Given the description of an element on the screen output the (x, y) to click on. 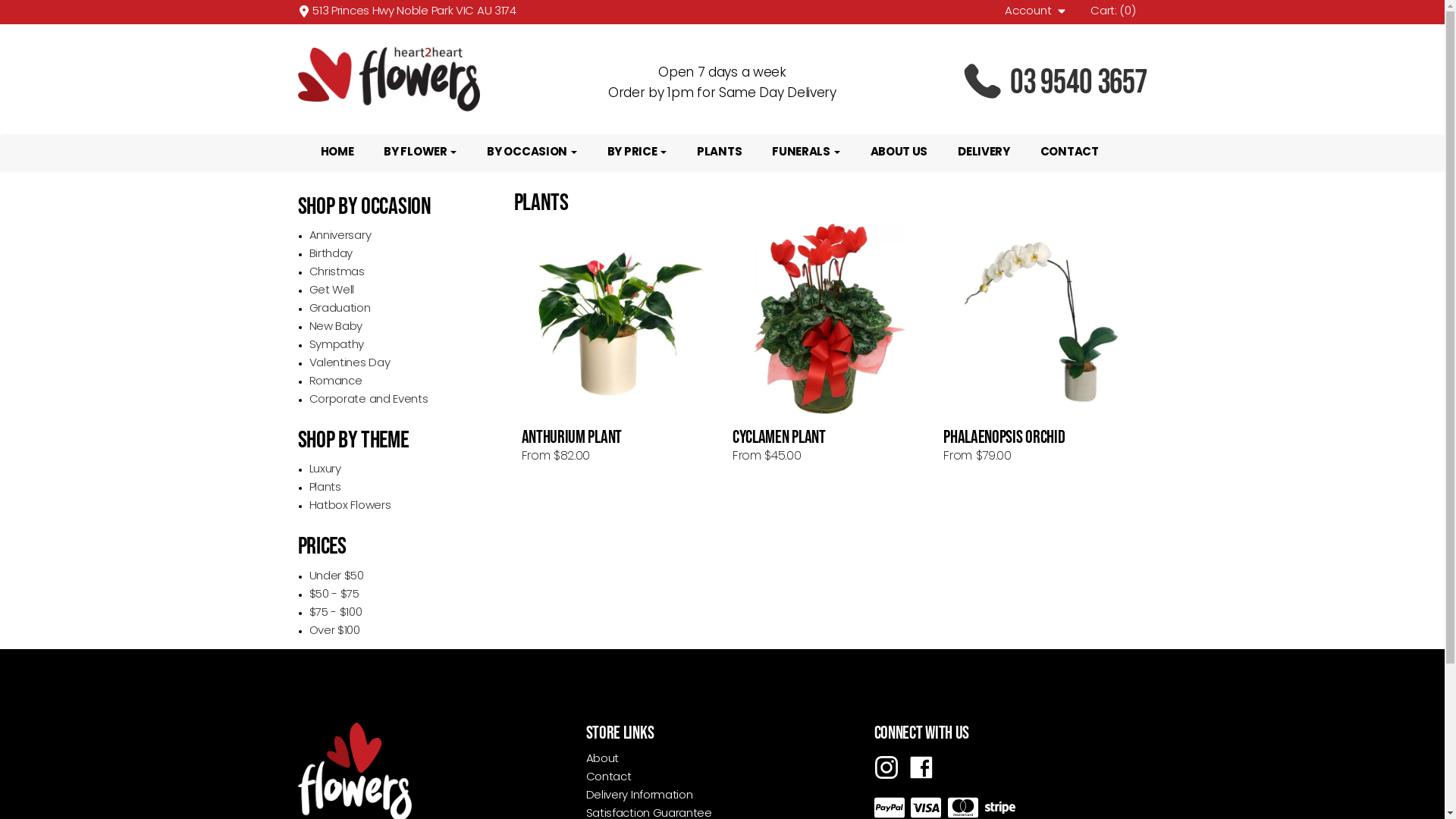
Contact Element type: text (607, 777)
CONTACT Element type: text (1069, 152)
Cyclamen Plant Element type: hover (830, 318)
PLANTS Element type: text (718, 152)
New Baby Element type: text (336, 326)
BY PRICE Element type: text (636, 152)
Luxury Element type: text (325, 469)
Anniversary Element type: text (340, 235)
facebook Element type: text (921, 767)
$50 - $75 Element type: text (334, 594)
HOME Element type: text (336, 152)
Account Element type: text (1036, 12)
About Element type: text (601, 759)
BY FLOWER Element type: text (419, 152)
Delivery Information Element type: text (638, 795)
Hatbox Flowers Element type: text (350, 505)
ABOUT US Element type: text (899, 152)
Birthday Element type: text (331, 254)
Heart 2 Heart Florist Element type: hover (433, 79)
Anthurium Plant  Element type: hover (619, 318)
03 9540 3657 Element type: text (1009, 81)
$75 - $100 Element type: text (335, 612)
Graduation Element type: text (339, 308)
Plants Element type: text (325, 487)
Over $100 Element type: text (334, 631)
Romance Element type: text (335, 381)
Corporate and Events Element type: text (368, 399)
BY OCCASION Element type: text (531, 152)
Sympathy Element type: text (336, 345)
Phalaenopsis Orchid Element type: hover (1041, 318)
Get Well Element type: text (331, 290)
DELIVERY Element type: text (983, 152)
Cart: (0) Element type: text (1112, 11)
Valentines Day Element type: text (349, 363)
Under $50 Element type: text (336, 576)
Christmas Element type: text (336, 272)
FUNERALS Element type: text (805, 152)
instagram Element type: text (885, 767)
